Given the description of an element on the screen output the (x, y) to click on. 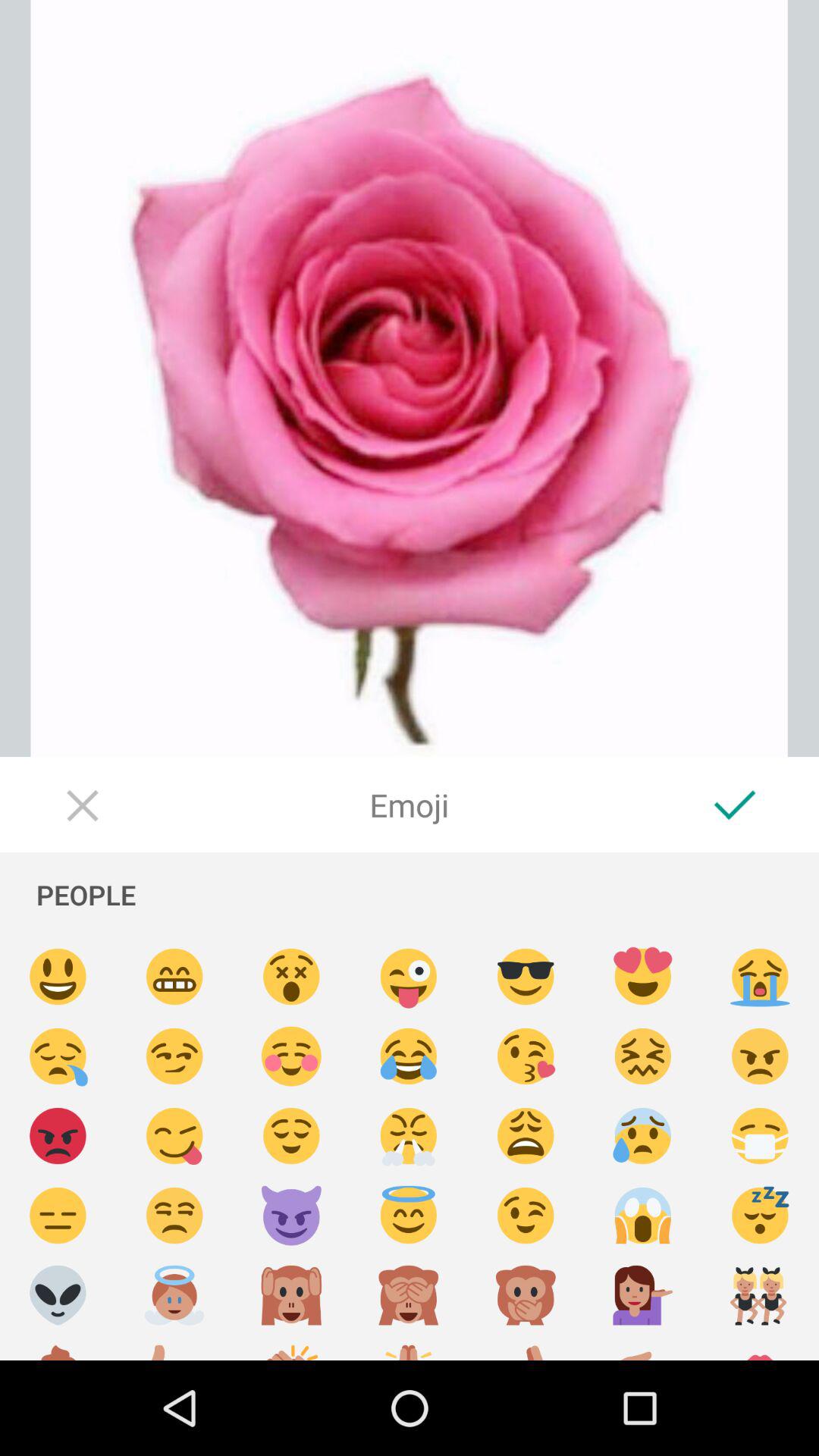
choose emoticon (291, 1215)
